Given the description of an element on the screen output the (x, y) to click on. 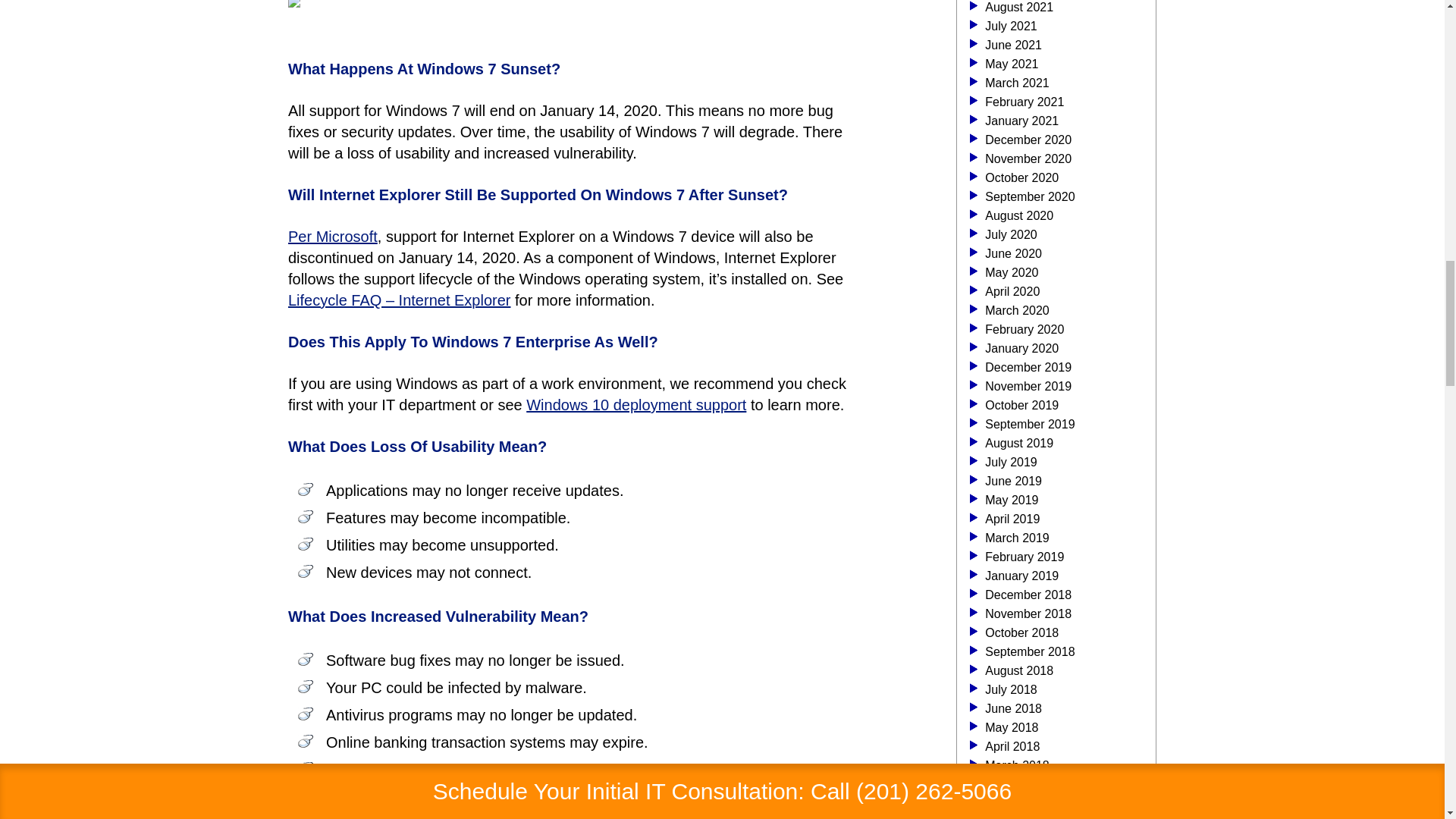
Windows 10 deployment support (635, 404)
Per Microsoft (332, 236)
